Given the description of an element on the screen output the (x, y) to click on. 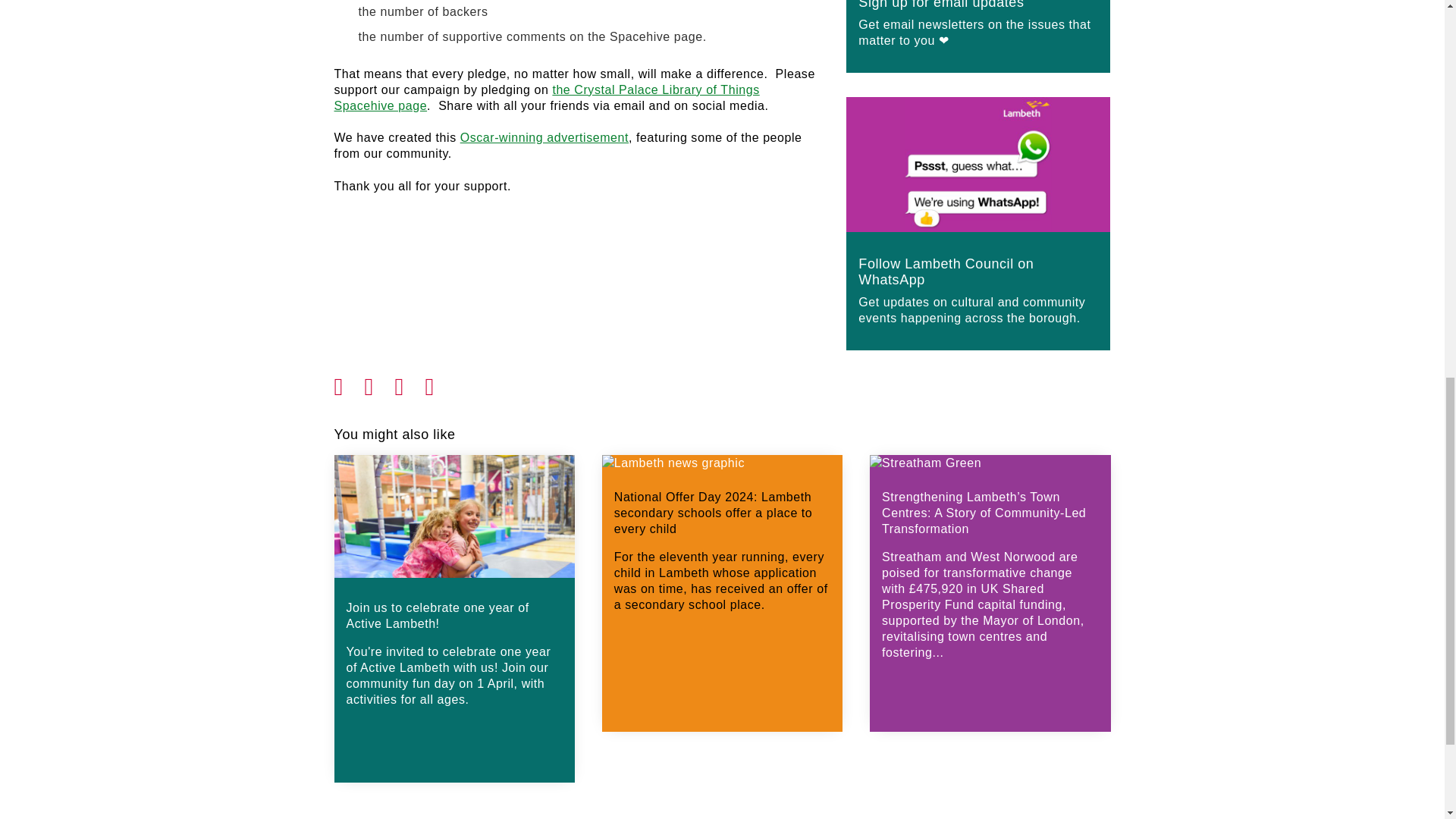
share this on google plus (409, 382)
Join us to celebrate one year of Active Lambeth! (453, 637)
Oscar-winning advertisement (544, 137)
the Crystal Palace Library of Things Spacehive page (545, 97)
share this on twitter (379, 382)
share this on Facebook (348, 382)
